Given the description of an element on the screen output the (x, y) to click on. 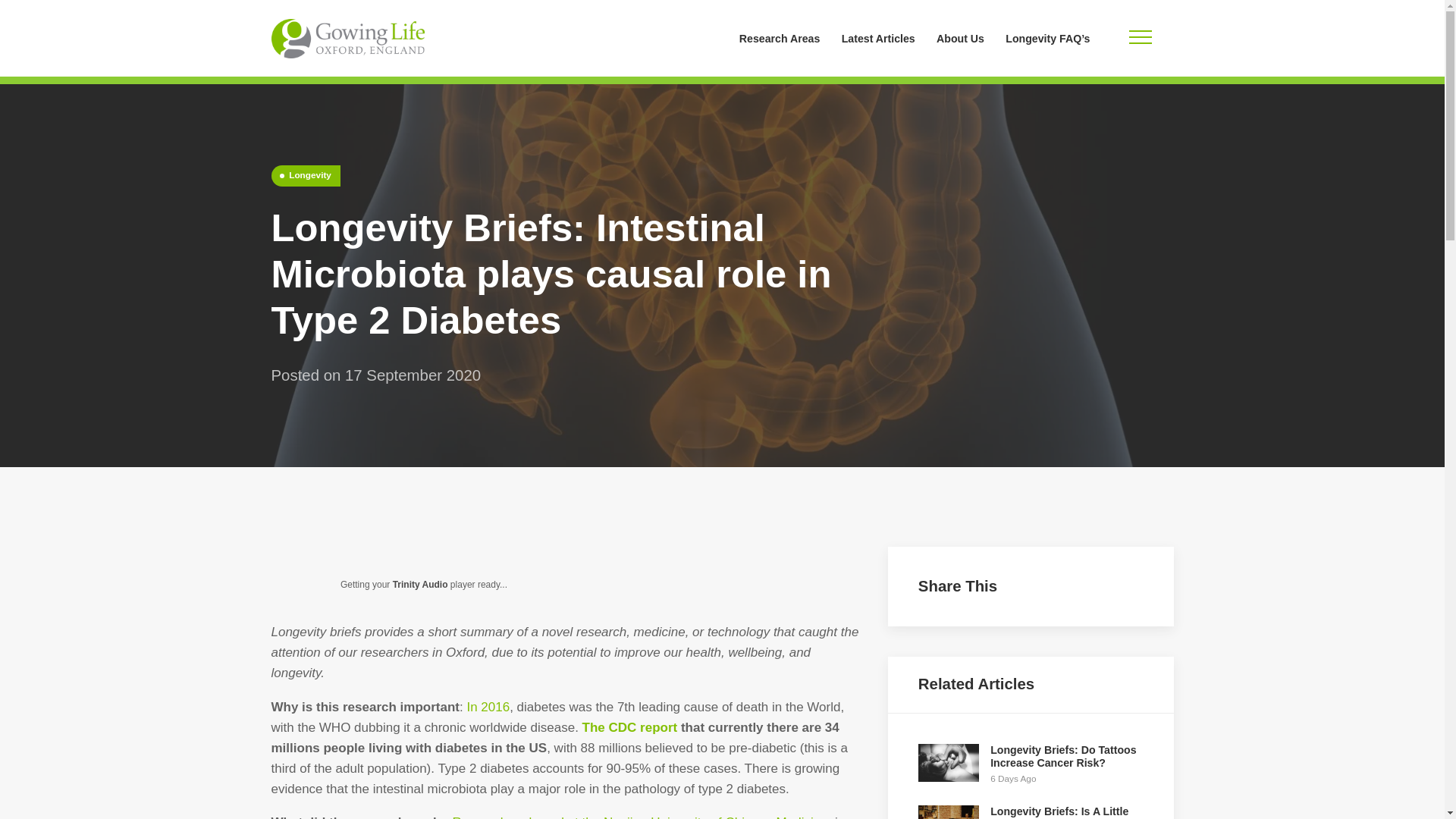
Research Areas (779, 38)
The CDC report (630, 727)
Trinity Audio (420, 584)
Open Navigation Menu (1139, 38)
Latest Articles (877, 38)
Longevity (305, 175)
In 2016 (487, 707)
About Us (960, 38)
